Given the description of an element on the screen output the (x, y) to click on. 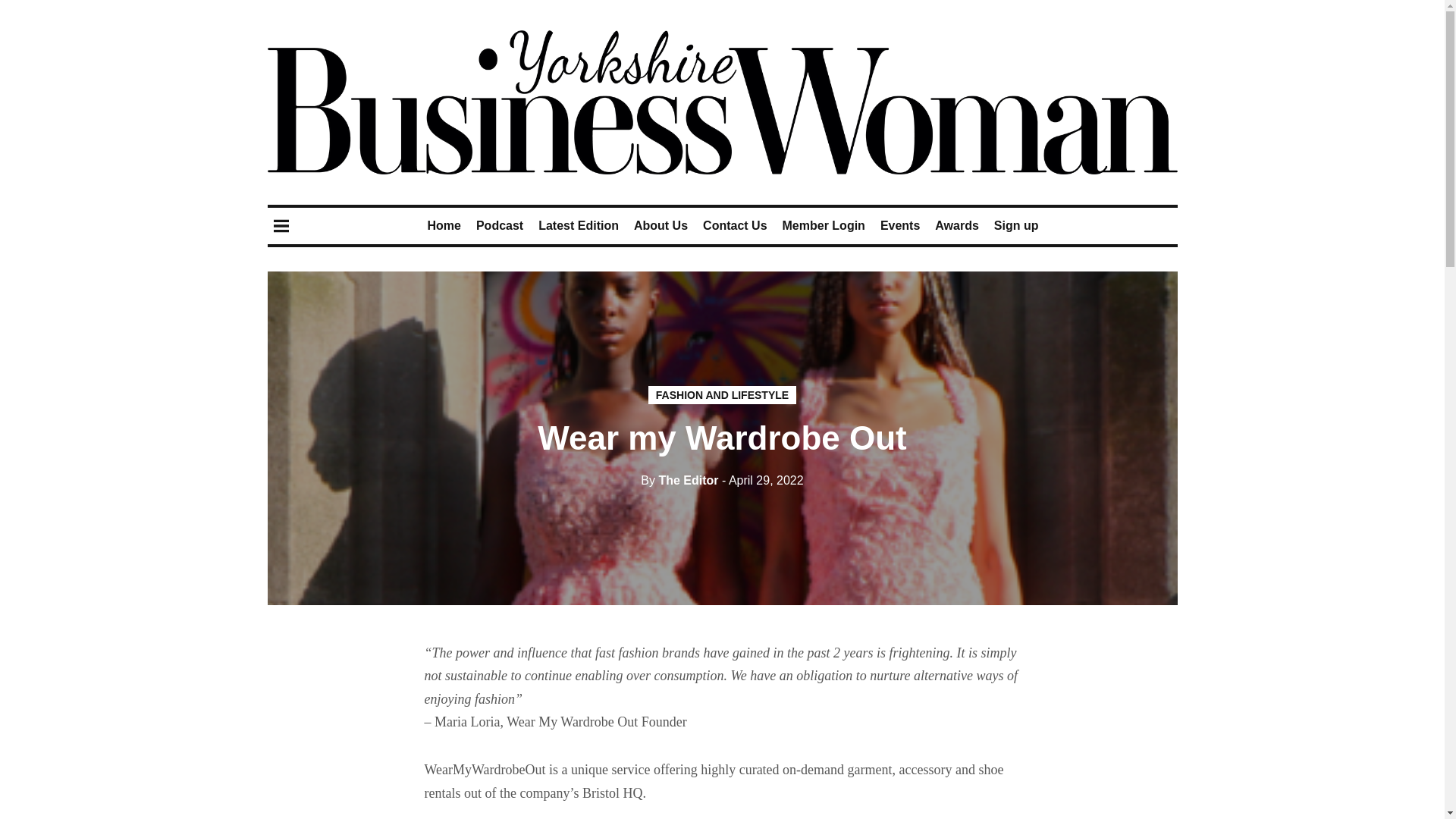
Podcast (499, 225)
Awards (956, 225)
Events (900, 225)
Latest Edition (578, 225)
Sign up (1016, 225)
By The Editor (678, 480)
Contact Us (735, 225)
Member Login (823, 225)
FASHION AND LIFESTYLE (721, 394)
About Us (660, 225)
Home (443, 225)
29 April, 2022 (762, 480)
